Given the description of an element on the screen output the (x, y) to click on. 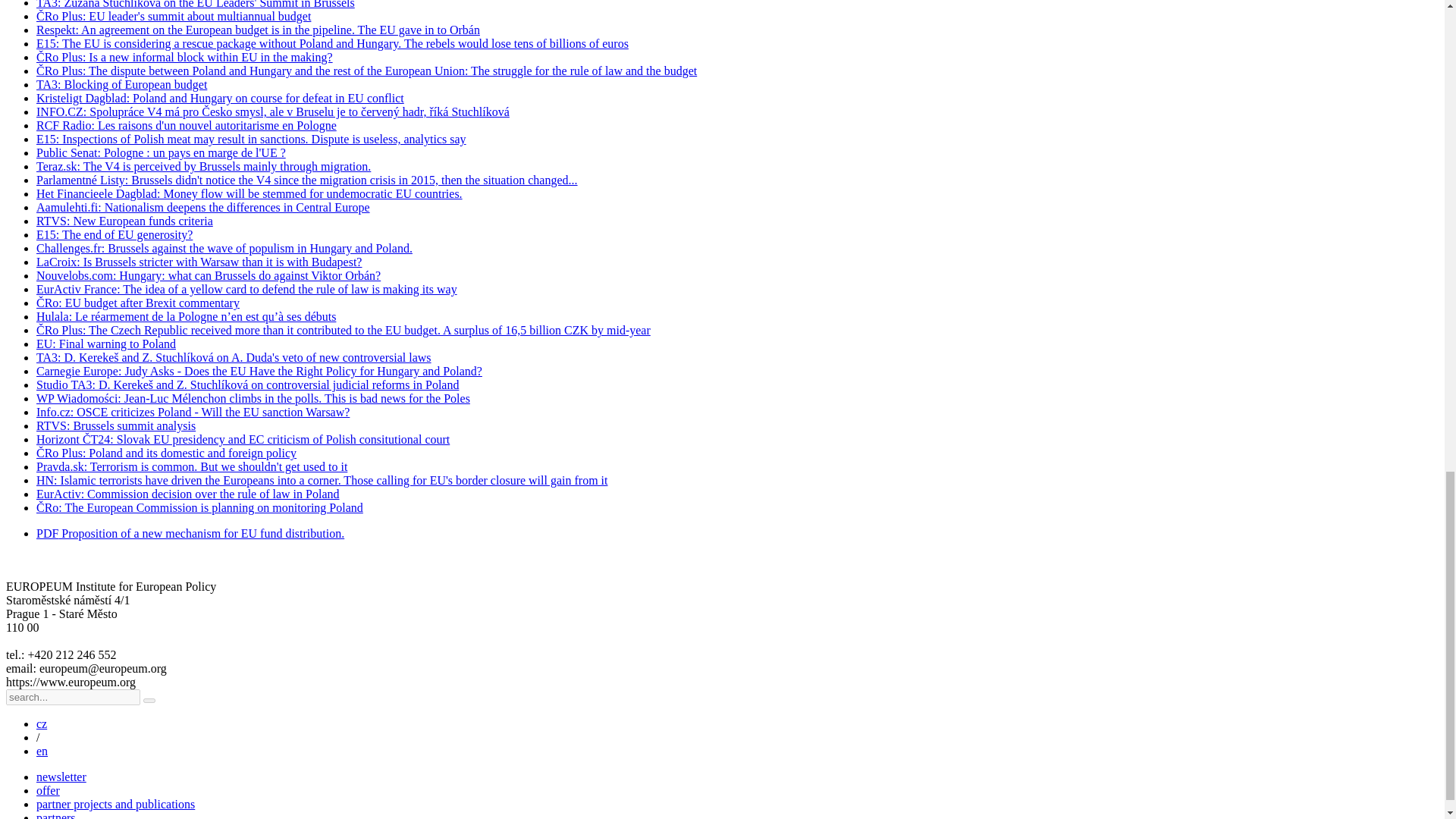
newsletter (60, 776)
